Given the description of an element on the screen output the (x, y) to click on. 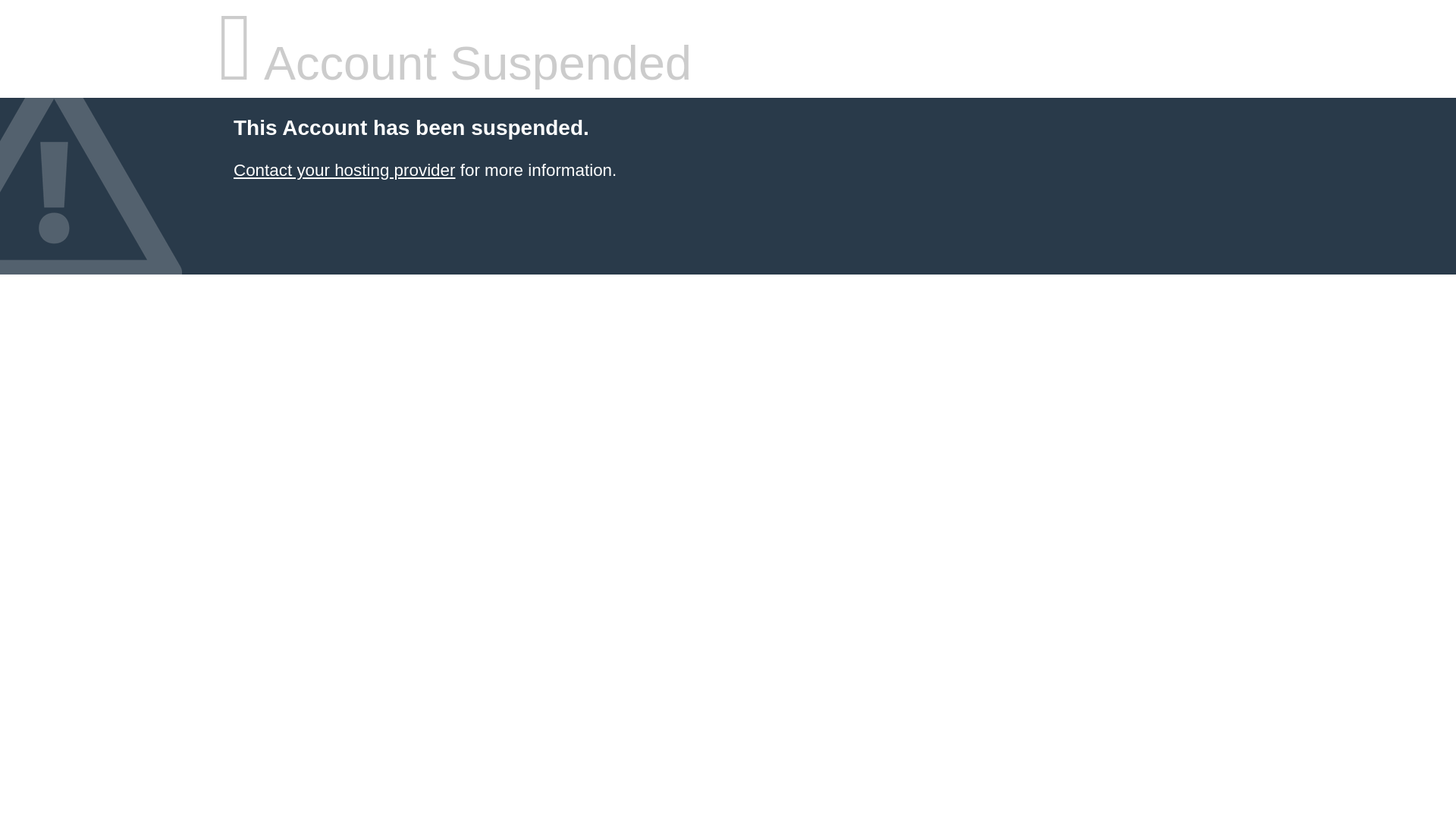
Contact your hosting provider (343, 169)
